Given the description of an element on the screen output the (x, y) to click on. 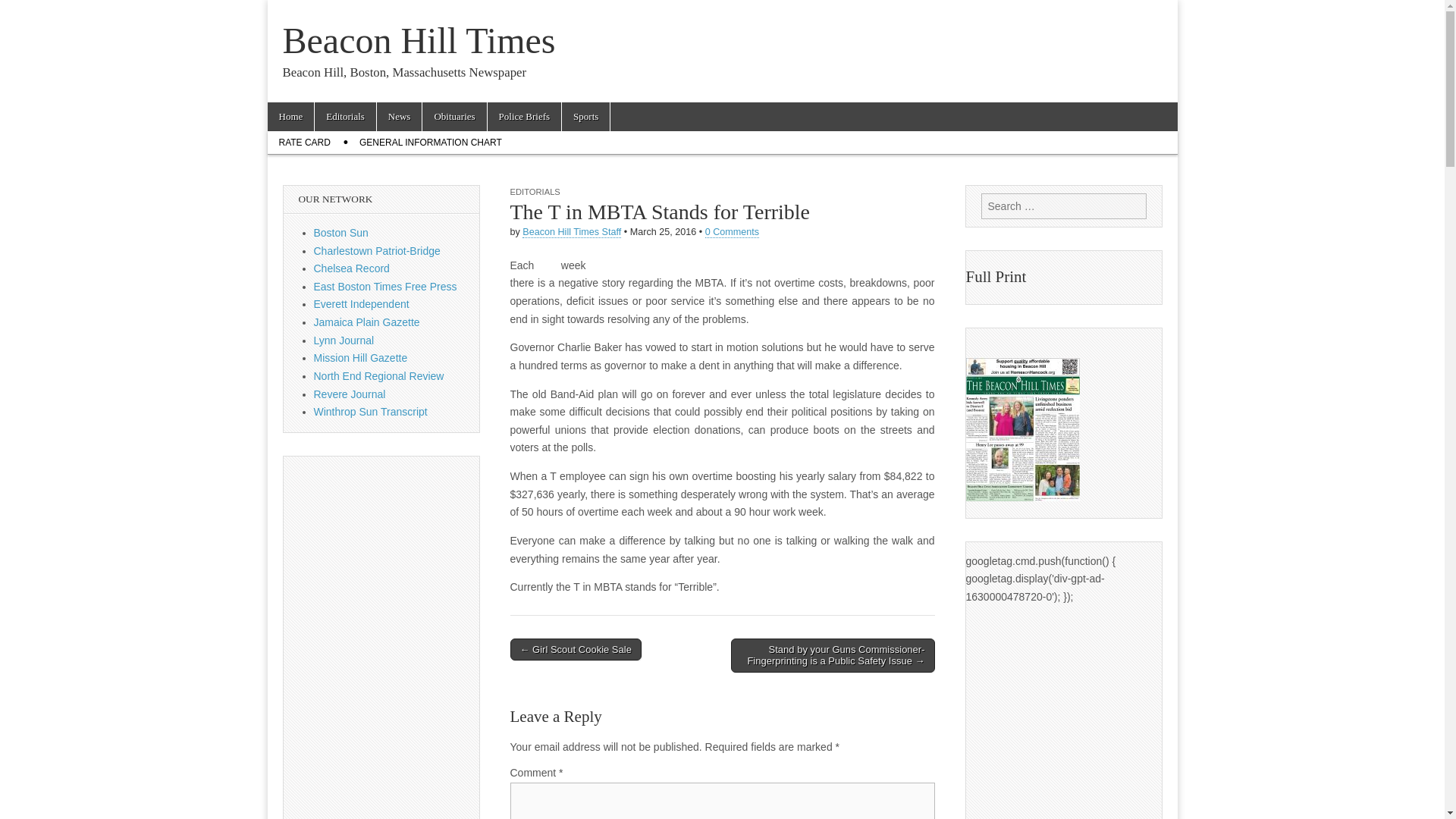
Revere Journal (349, 394)
Police Briefs (524, 116)
North End Regional Review (379, 376)
Chelsea Record (352, 268)
Beacon Hill Times (418, 40)
Beacon Hill Times Staff (571, 232)
News (399, 116)
GENERAL INFORMATION CHART (430, 142)
Boston Sun (341, 232)
Beacon Hill Times (418, 40)
